Given the description of an element on the screen output the (x, y) to click on. 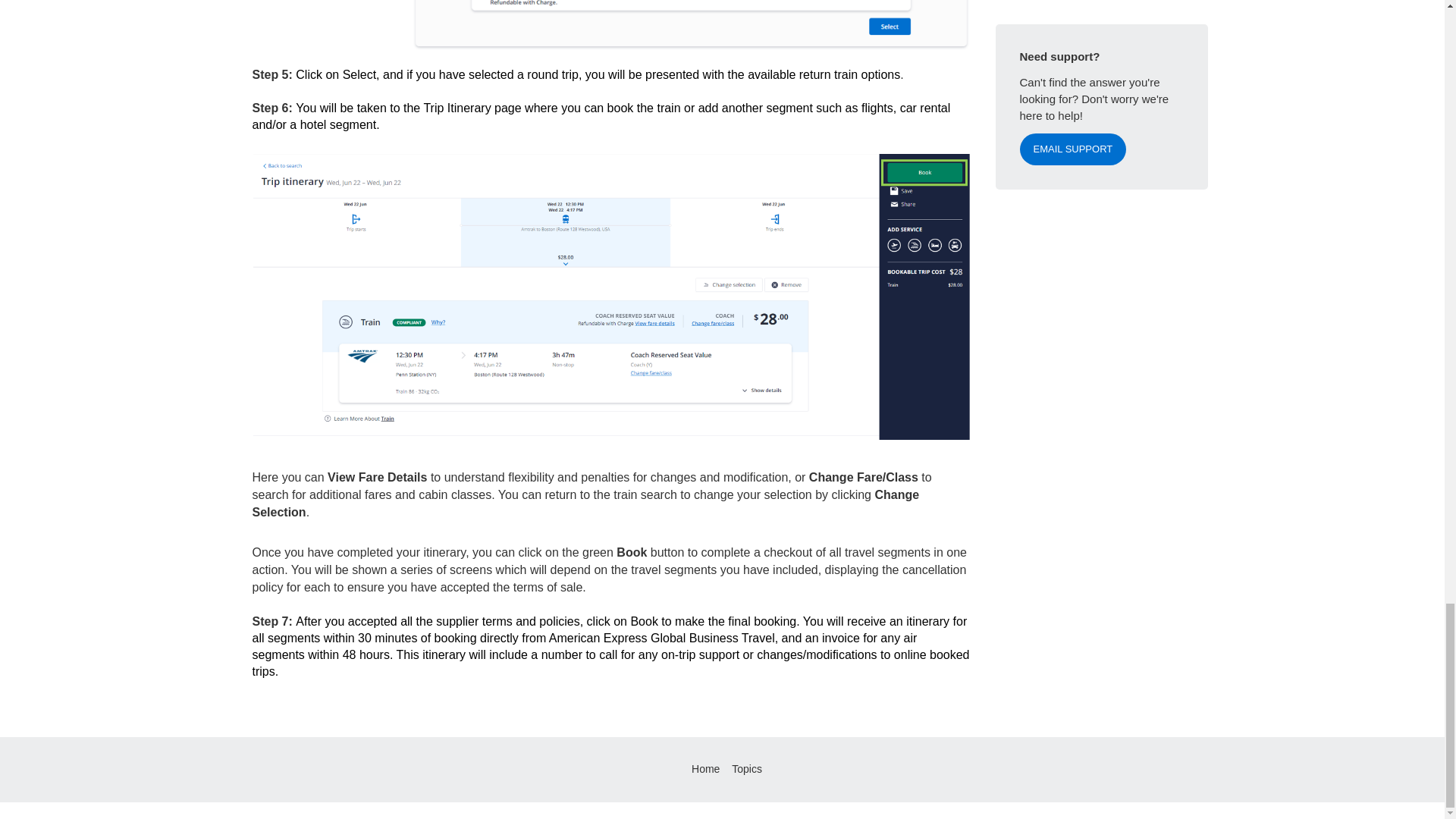
Topics (746, 768)
Home (705, 768)
